Given the description of an element on the screen output the (x, y) to click on. 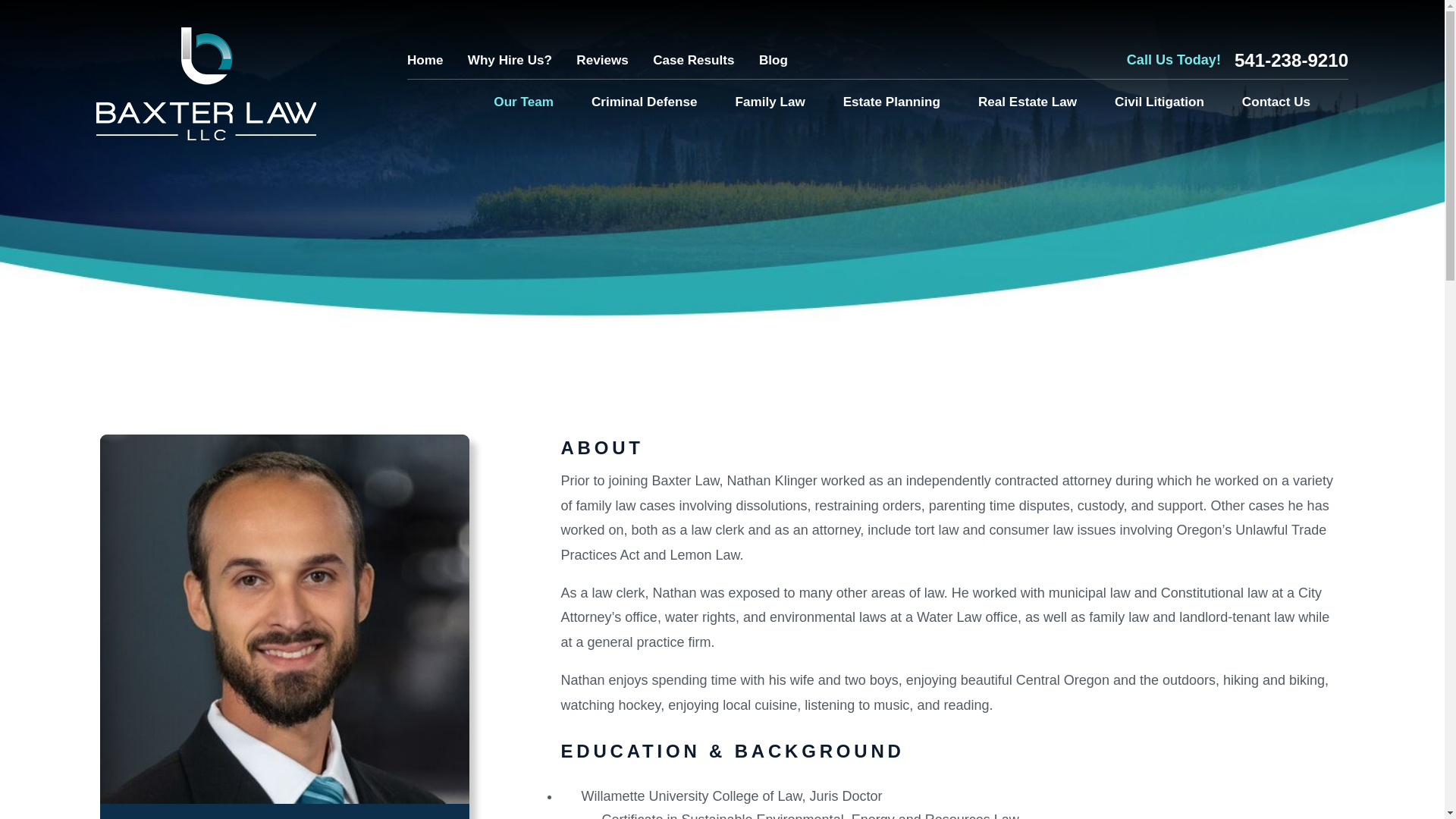
541-238-9210 (1291, 60)
Our Team (523, 102)
Case Results (692, 60)
Blog (772, 60)
Home (205, 83)
Reviews (601, 60)
Why Hire Us? (509, 60)
Home (425, 60)
Criminal Defense (644, 102)
